Given the description of an element on the screen output the (x, y) to click on. 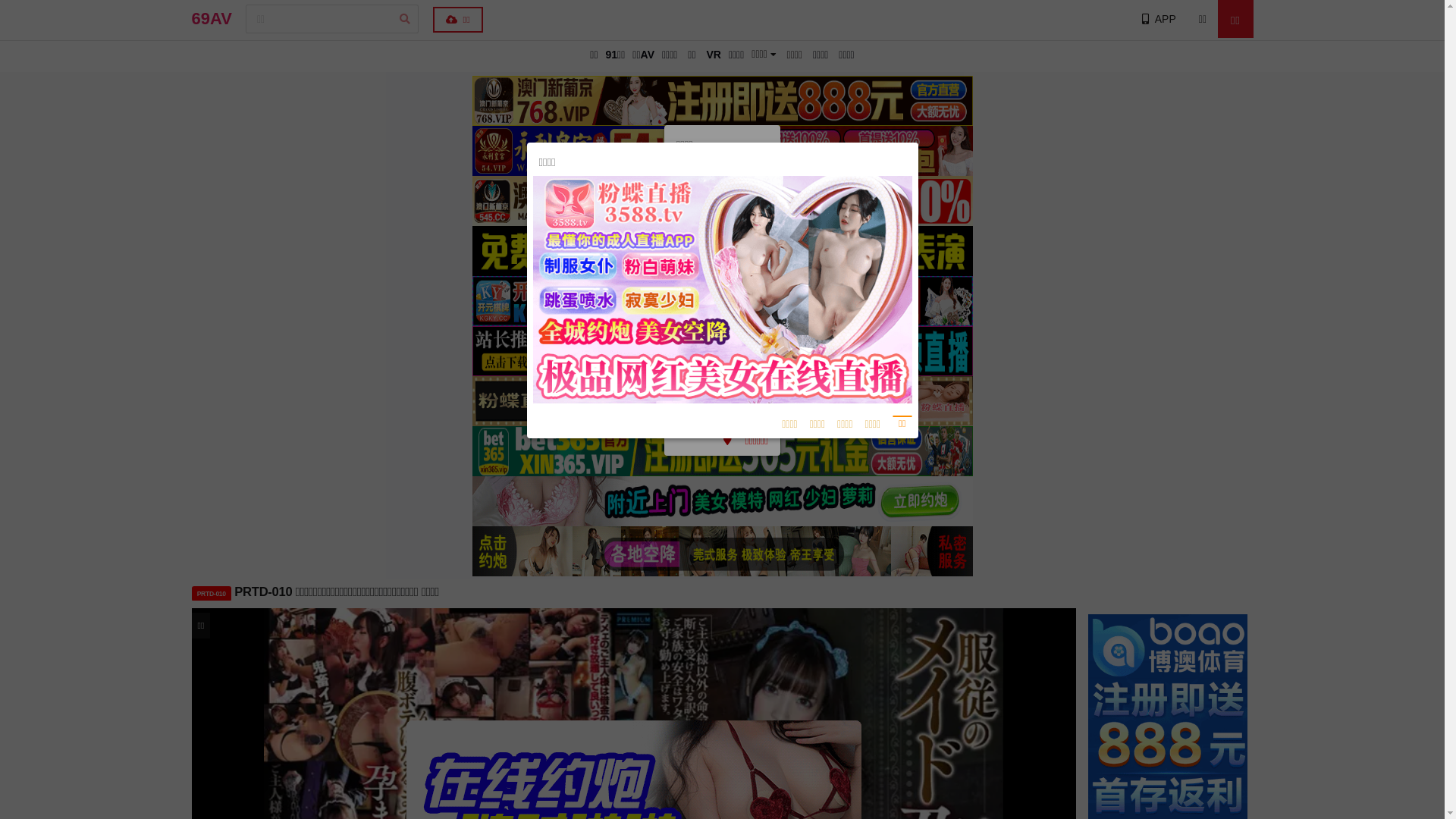
69AV Element type: text (211, 18)
VR Element type: text (713, 54)
https://69a8859.xyz Element type: text (722, 341)
https://69a8737.xyz Element type: text (722, 404)
https://69a8807.xyz Element type: text (722, 298)
https://69a8818.xyz Element type: text (722, 256)
https://69a8741.xyz Element type: text (722, 362)
https://69a8826.xyz Element type: text (722, 213)
https://69a8761.xyz Element type: text (722, 235)
https://69a8787.xyz Element type: text (722, 383)
APP Element type: text (1157, 18)
https://69a8797.xyz Element type: text (722, 319)
https://69a8828.xyz Element type: text (722, 277)
